Given the description of an element on the screen output the (x, y) to click on. 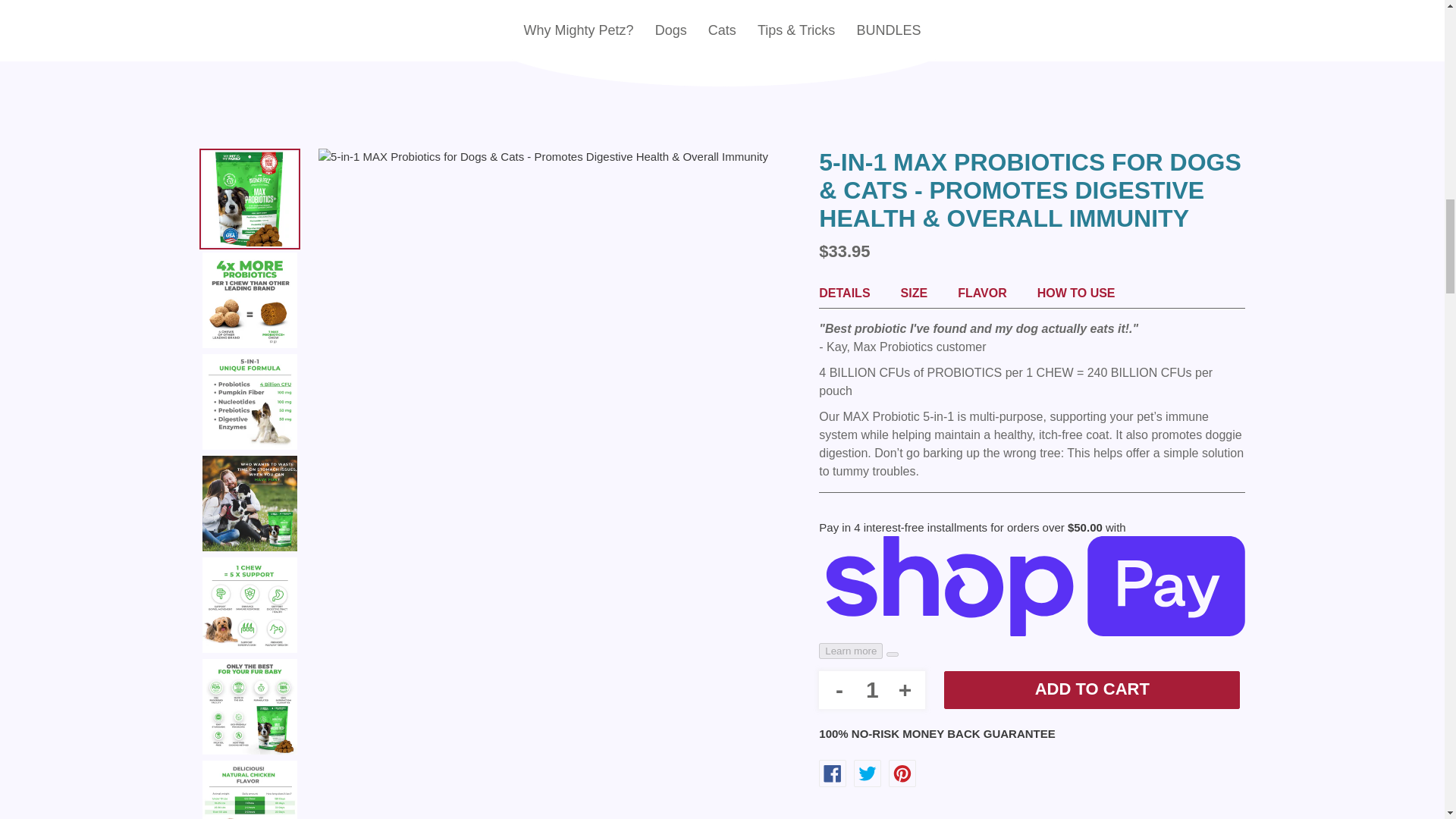
Why Mighty Petz? (577, 29)
Cart (1188, 2)
Log in (1152, 4)
Search (250, 1)
BUNDLES (888, 29)
Dogs (670, 29)
Cats (721, 29)
